Given the description of an element on the screen output the (x, y) to click on. 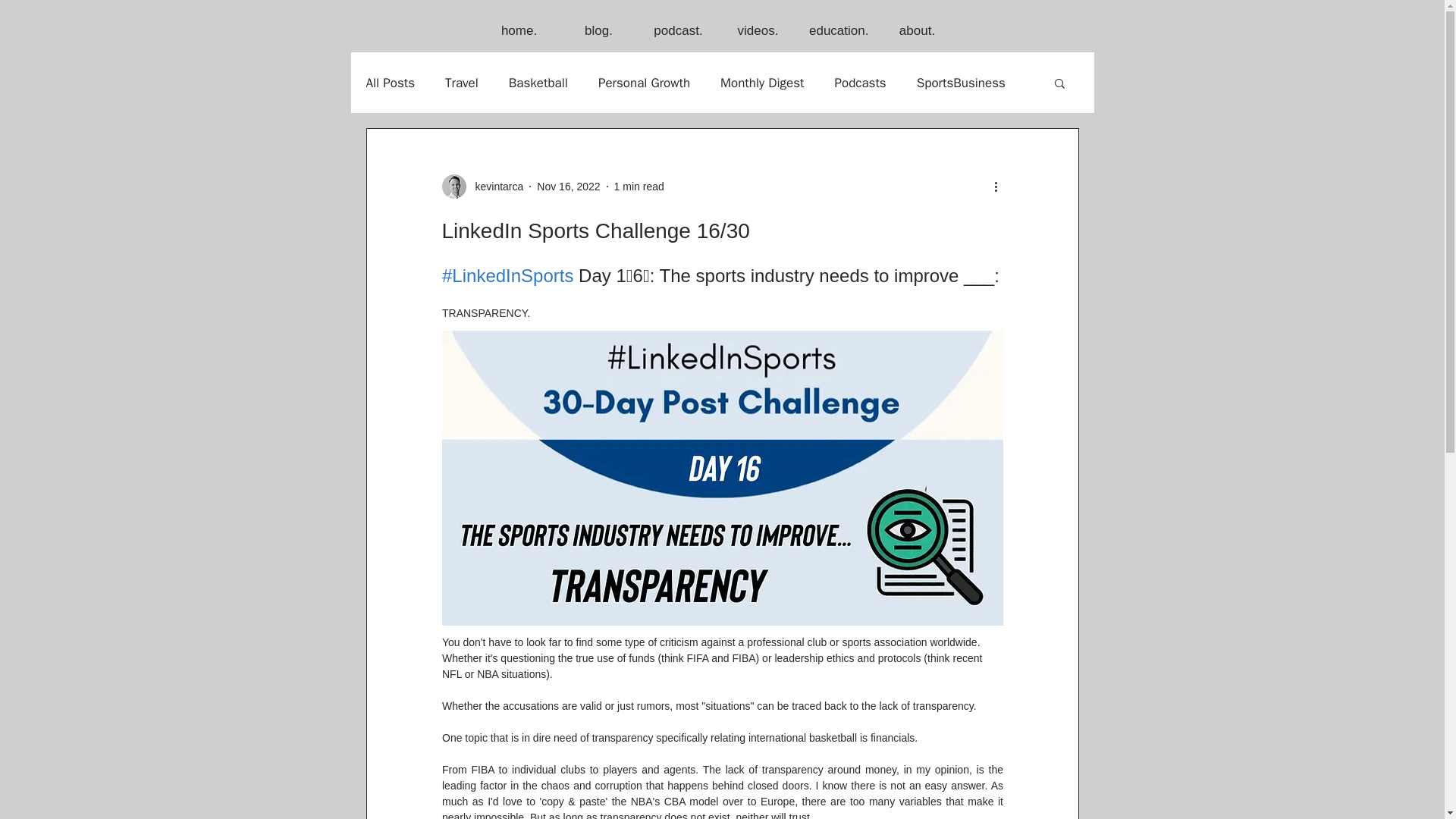
education. (837, 30)
Personal Growth (644, 82)
Nov 16, 2022 (568, 186)
home. (519, 30)
1 min read (638, 186)
blog. (599, 30)
Podcasts (859, 82)
videos. (757, 30)
podcast. (678, 30)
Basketball (537, 82)
SportsBusiness (961, 82)
kevintarca (493, 186)
about. (916, 30)
Travel (462, 82)
All Posts (389, 82)
